Given the description of an element on the screen output the (x, y) to click on. 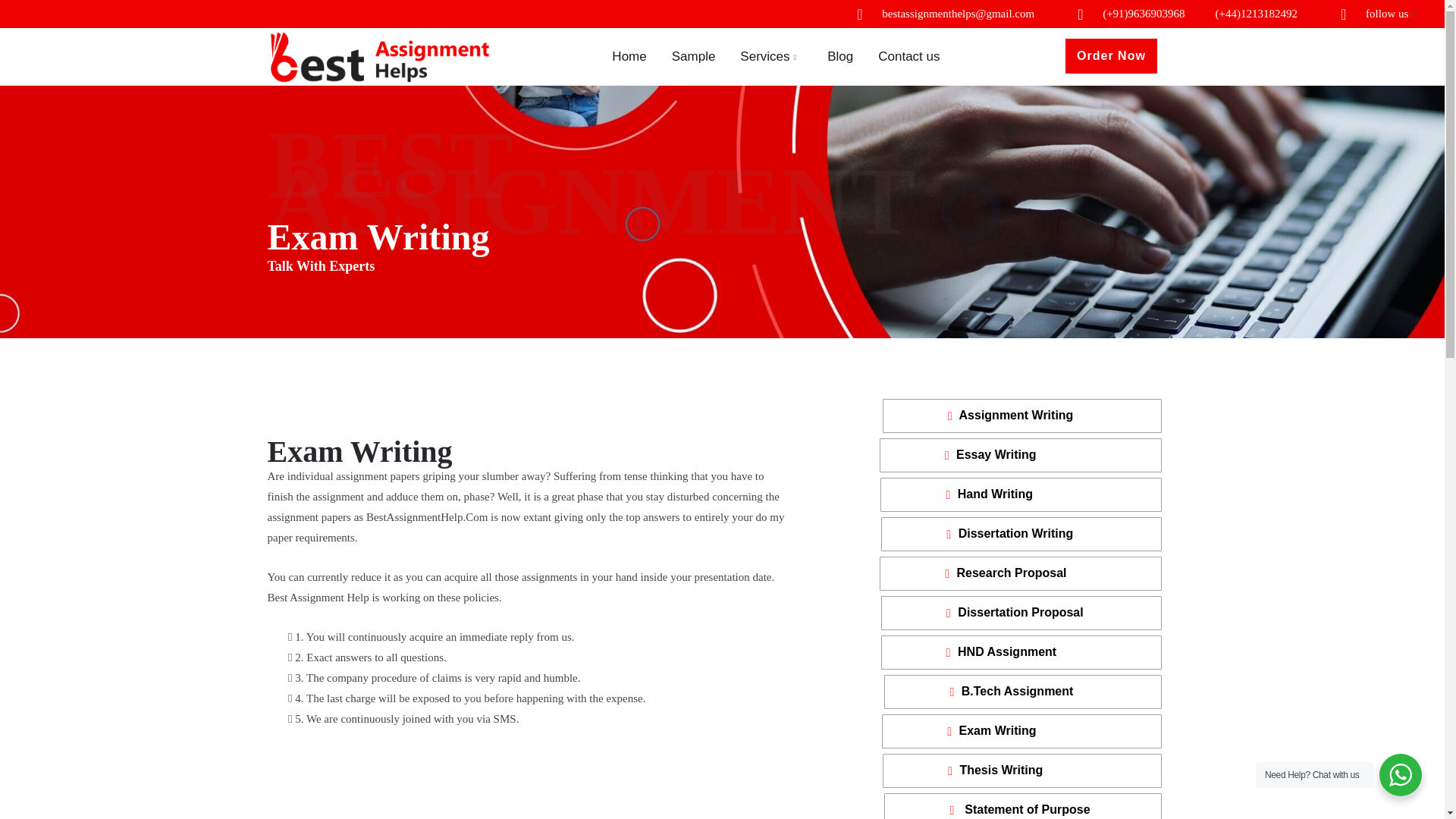
Home (628, 56)
follow us (1386, 13)
Sample (693, 56)
Services (764, 56)
